Given the description of an element on the screen output the (x, y) to click on. 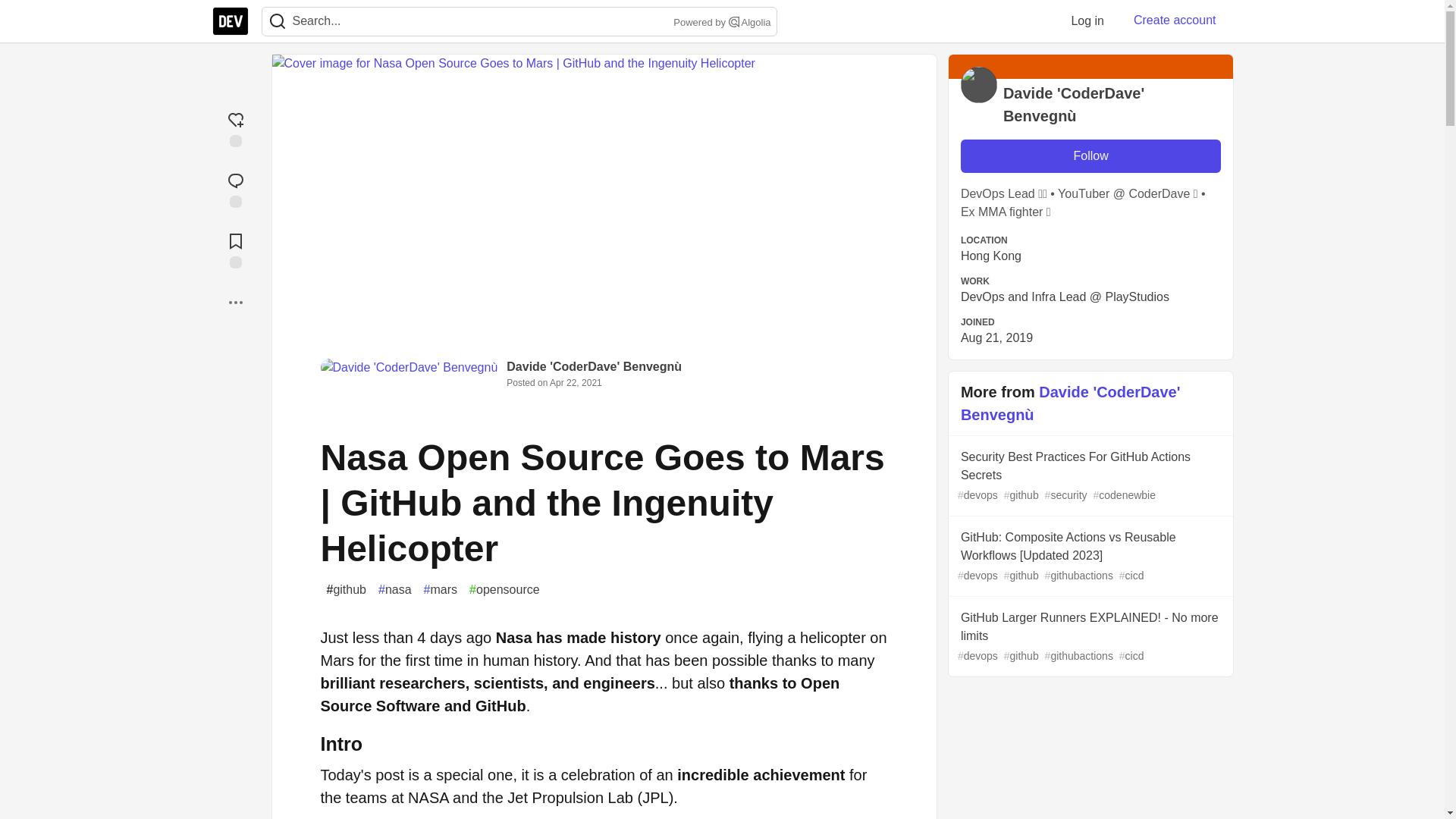
Search (276, 21)
More... (234, 302)
Search (734, 21)
Powered by Search Algolia (720, 22)
Search (277, 21)
Log in (1087, 20)
More... (234, 302)
Create account (1174, 20)
